Given the description of an element on the screen output the (x, y) to click on. 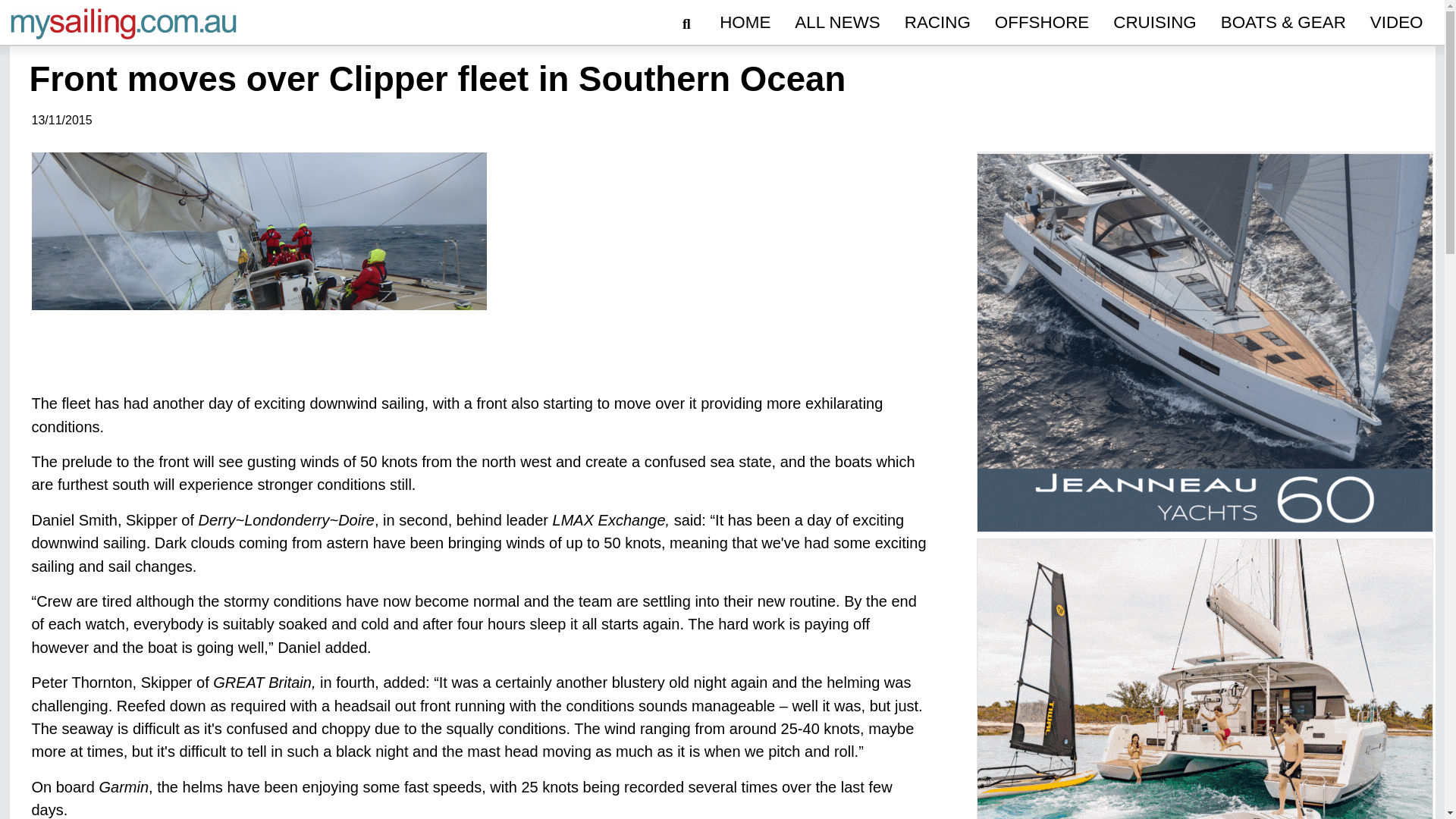
VIDEO (1396, 22)
Racing (937, 22)
RACING (937, 22)
Offshore (1041, 22)
Cruising (1154, 22)
OFFSHORE (1041, 22)
HOME (744, 22)
Video (1396, 22)
CRUISING (1154, 22)
All News (837, 22)
